Given the description of an element on the screen output the (x, y) to click on. 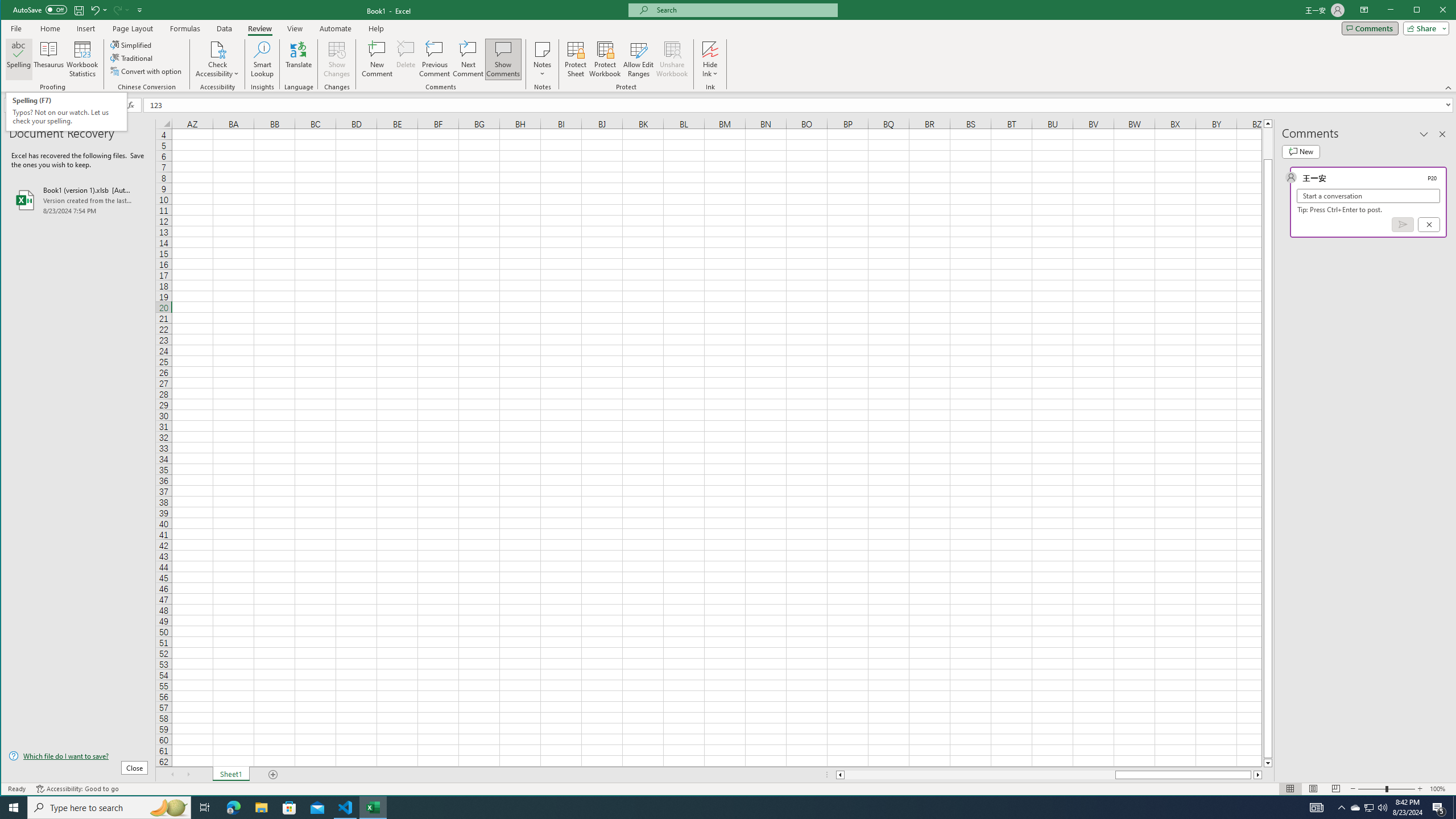
Show Comments (502, 59)
Start (13, 807)
Previous Comment (434, 59)
Start a conversation (1368, 195)
Traditional (132, 57)
